Given the description of an element on the screen output the (x, y) to click on. 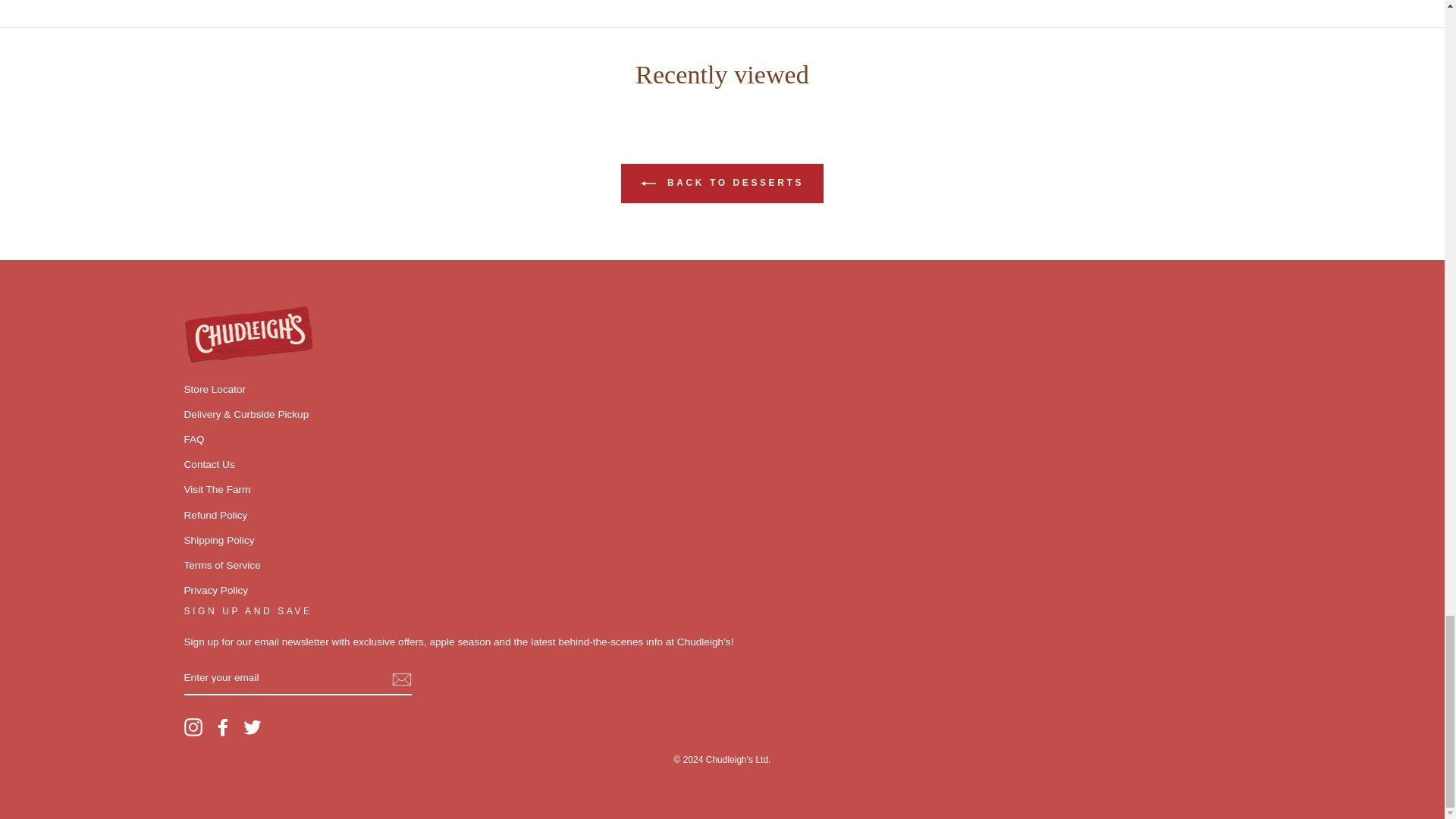
Chudleigh's  on Facebook (222, 727)
Chudleigh's  on Twitter (251, 727)
Chudleigh's  on Instagram (192, 727)
